Given the description of an element on the screen output the (x, y) to click on. 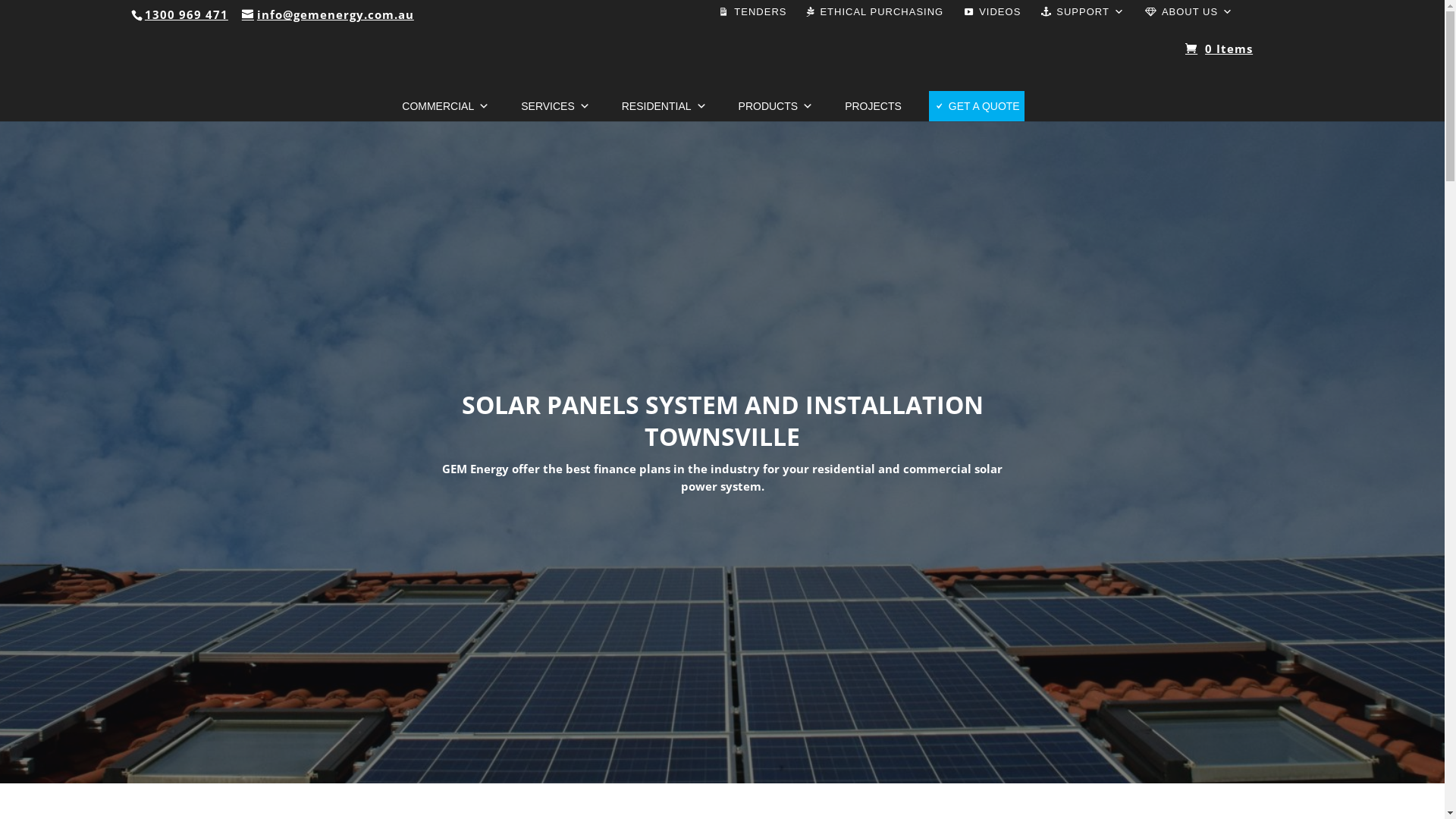
SERVICES Element type: text (555, 106)
info@gemenergy.com.au Element type: text (327, 13)
1300 969 471 Element type: text (186, 13)
PROJECTS Element type: text (873, 106)
COMMERCIAL Element type: text (445, 106)
0 Items Element type: text (1218, 40)
RESIDENTIAL Element type: text (664, 106)
GET A QUOTE Element type: text (976, 106)
PRODUCTS Element type: text (776, 106)
